Given the description of an element on the screen output the (x, y) to click on. 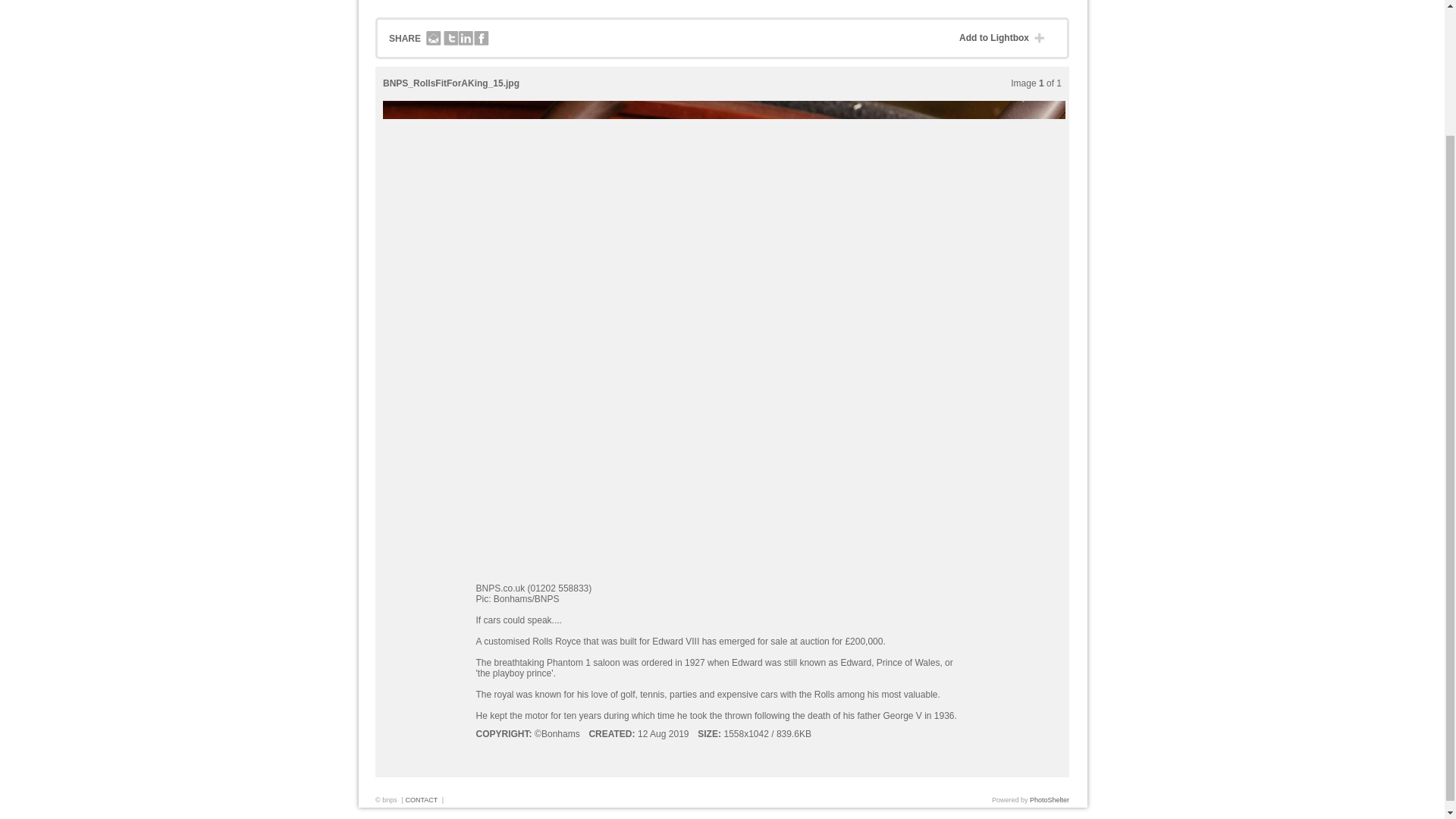
Email to a Friend (433, 38)
Add to Lightbox (1005, 38)
PhotoShelter (1048, 799)
CONTACT (421, 799)
